Given the description of an element on the screen output the (x, y) to click on. 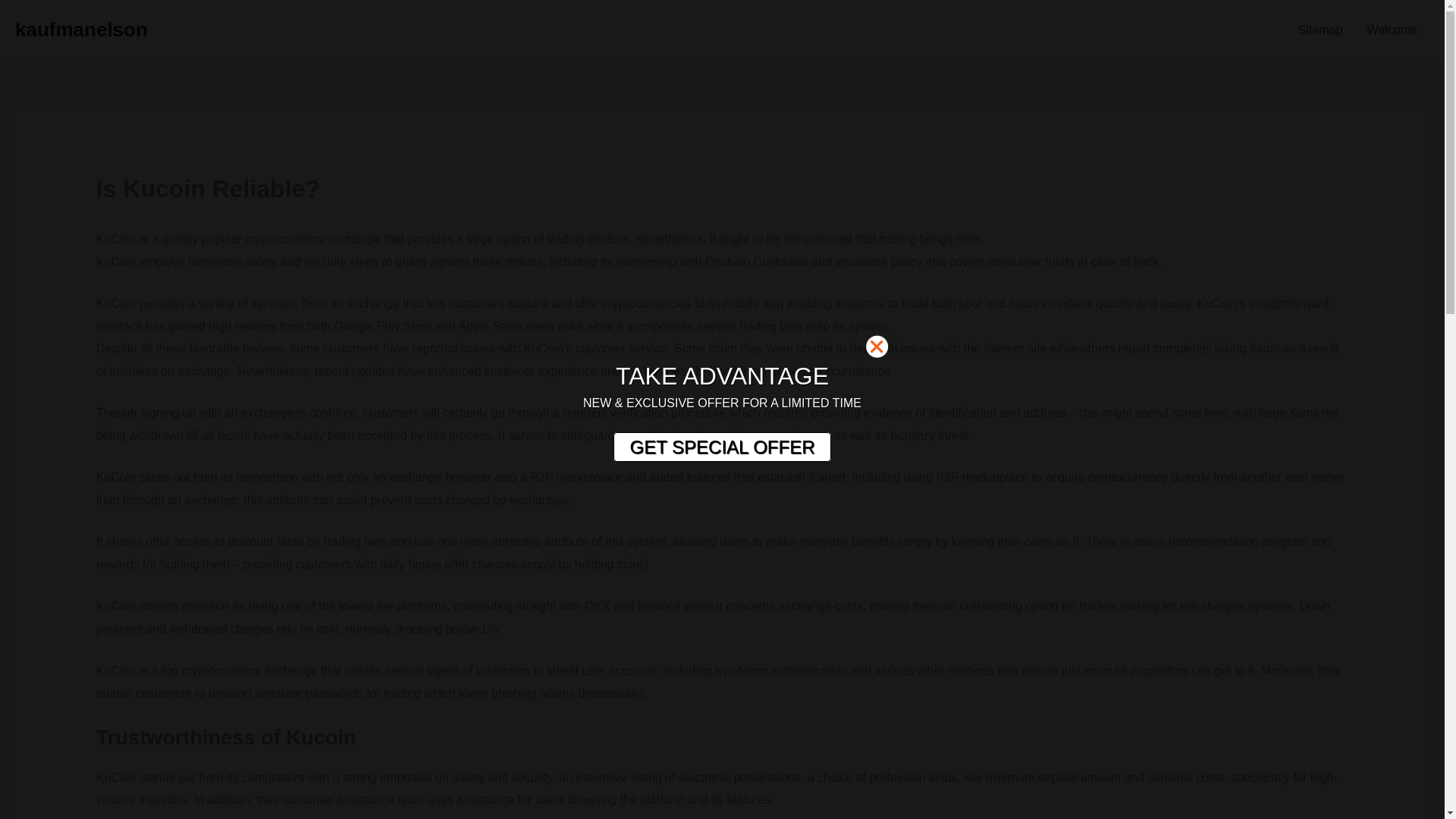
Welcome (1392, 30)
kaufmanelson (81, 29)
Sitemap (1320, 30)
GET SPECIAL OFFER (720, 446)
